Given the description of an element on the screen output the (x, y) to click on. 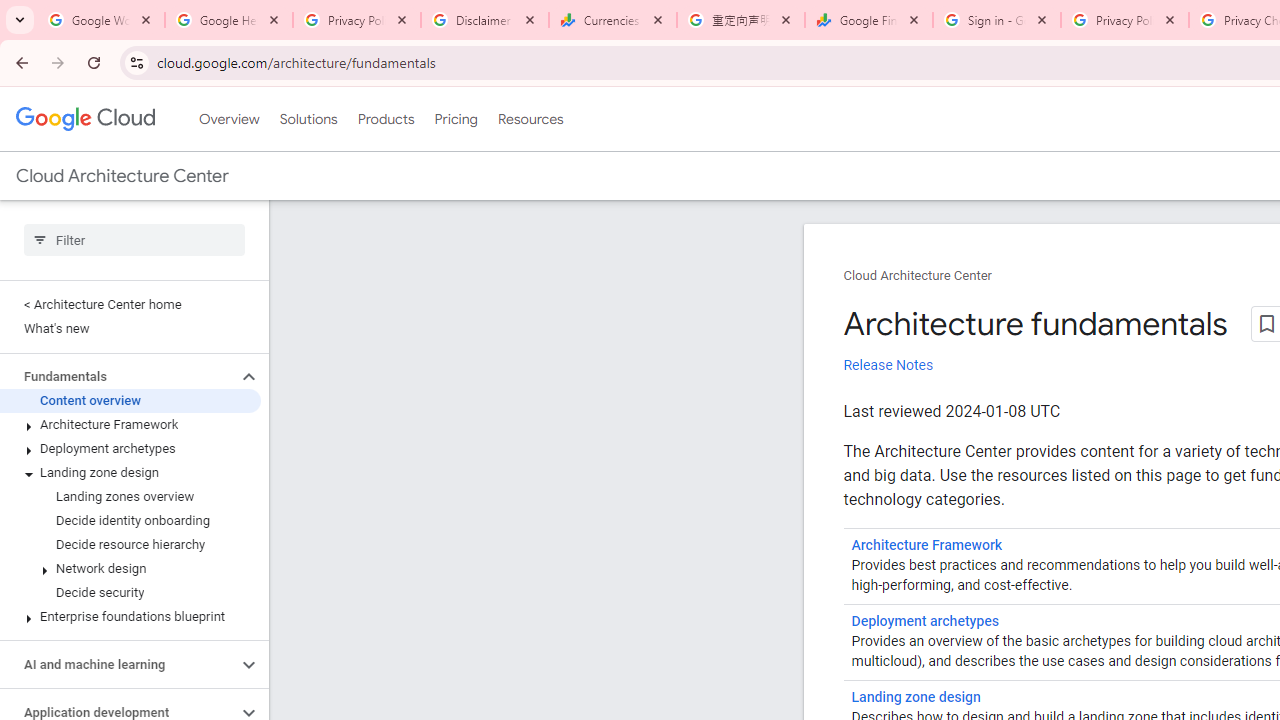
Landing zone design (130, 472)
Architecture Framework (130, 425)
Content overview (130, 400)
What's new (130, 328)
Products (385, 119)
Resources (530, 119)
AI and machine learning (118, 664)
